Given the description of an element on the screen output the (x, y) to click on. 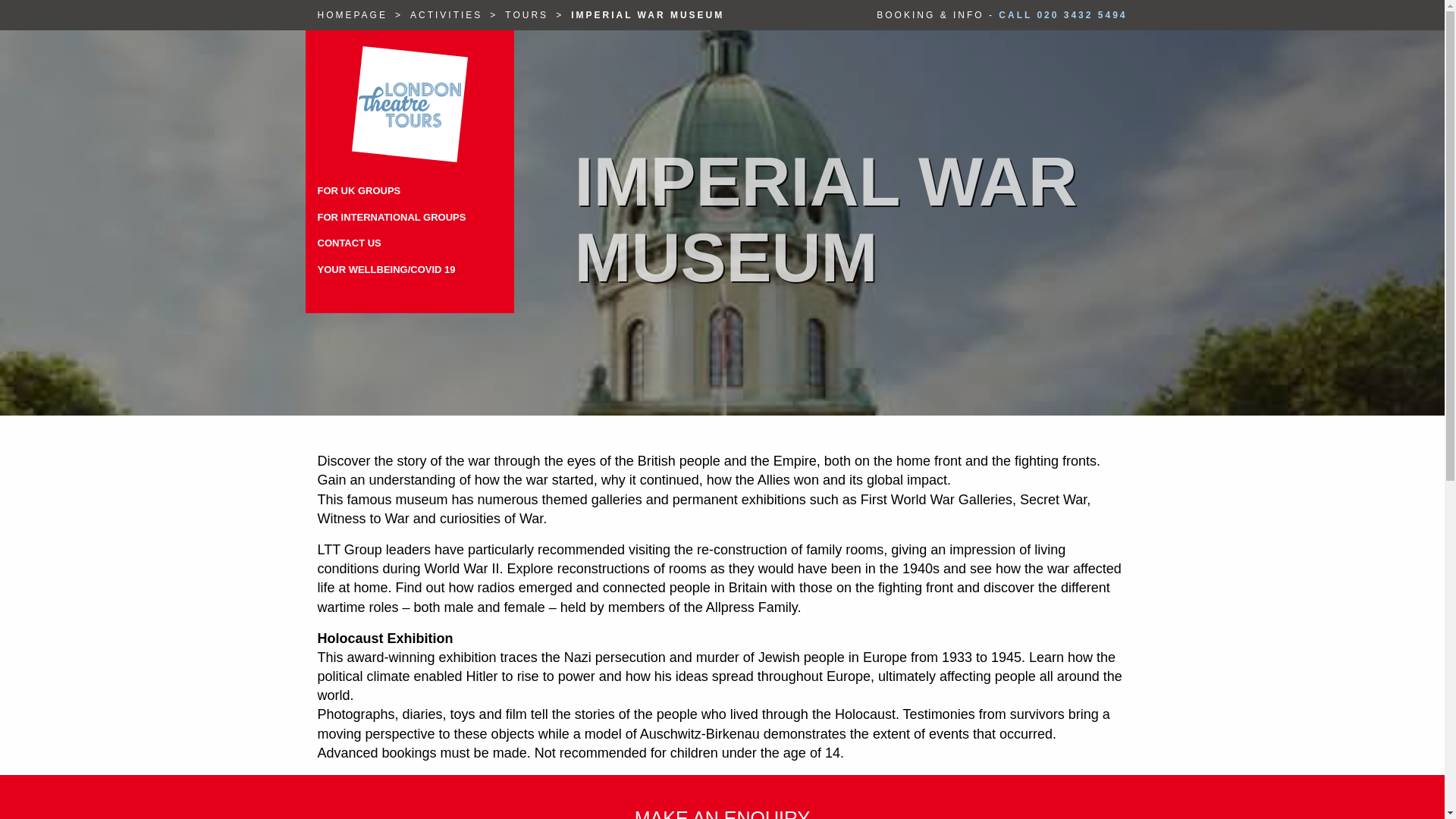
FOR INTERNATIONAL GROUPS (408, 217)
FOR UK GROUPS (408, 190)
CONTACT US (408, 243)
Homepage (352, 14)
HOMEPAGE (352, 14)
Activities (445, 14)
ACTIVITIES (445, 14)
IMPERIAL WAR MUSEUM (646, 14)
TOURS (526, 14)
CALL 020 3432 5494 (1062, 14)
